Given the description of an element on the screen output the (x, y) to click on. 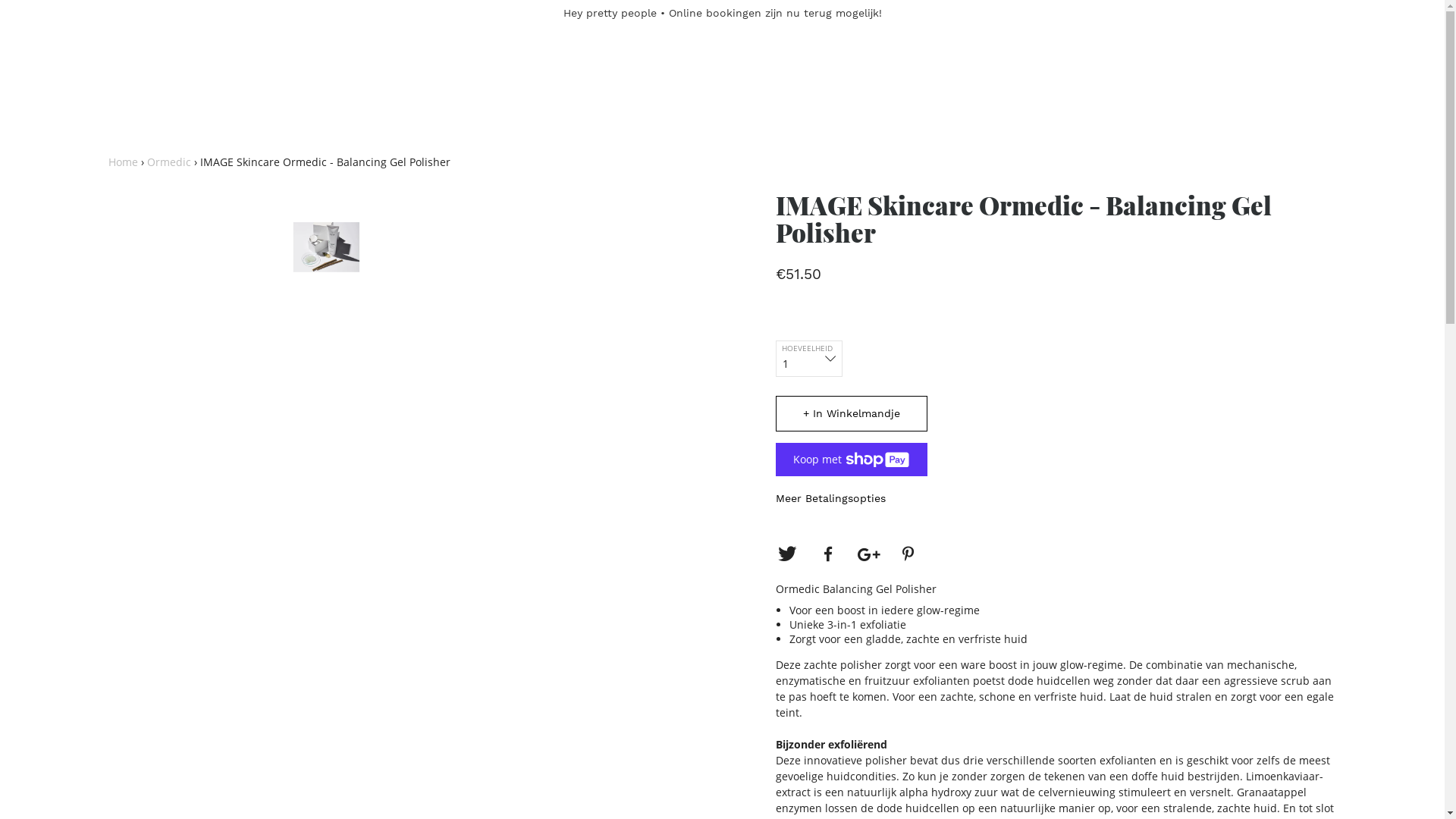
Meer Betalingsopties Element type: text (829, 497)
+ In Winkelmandje Element type: text (850, 413)
Ormedic Element type: text (169, 161)
Home Element type: text (123, 161)
